Given the description of an element on the screen output the (x, y) to click on. 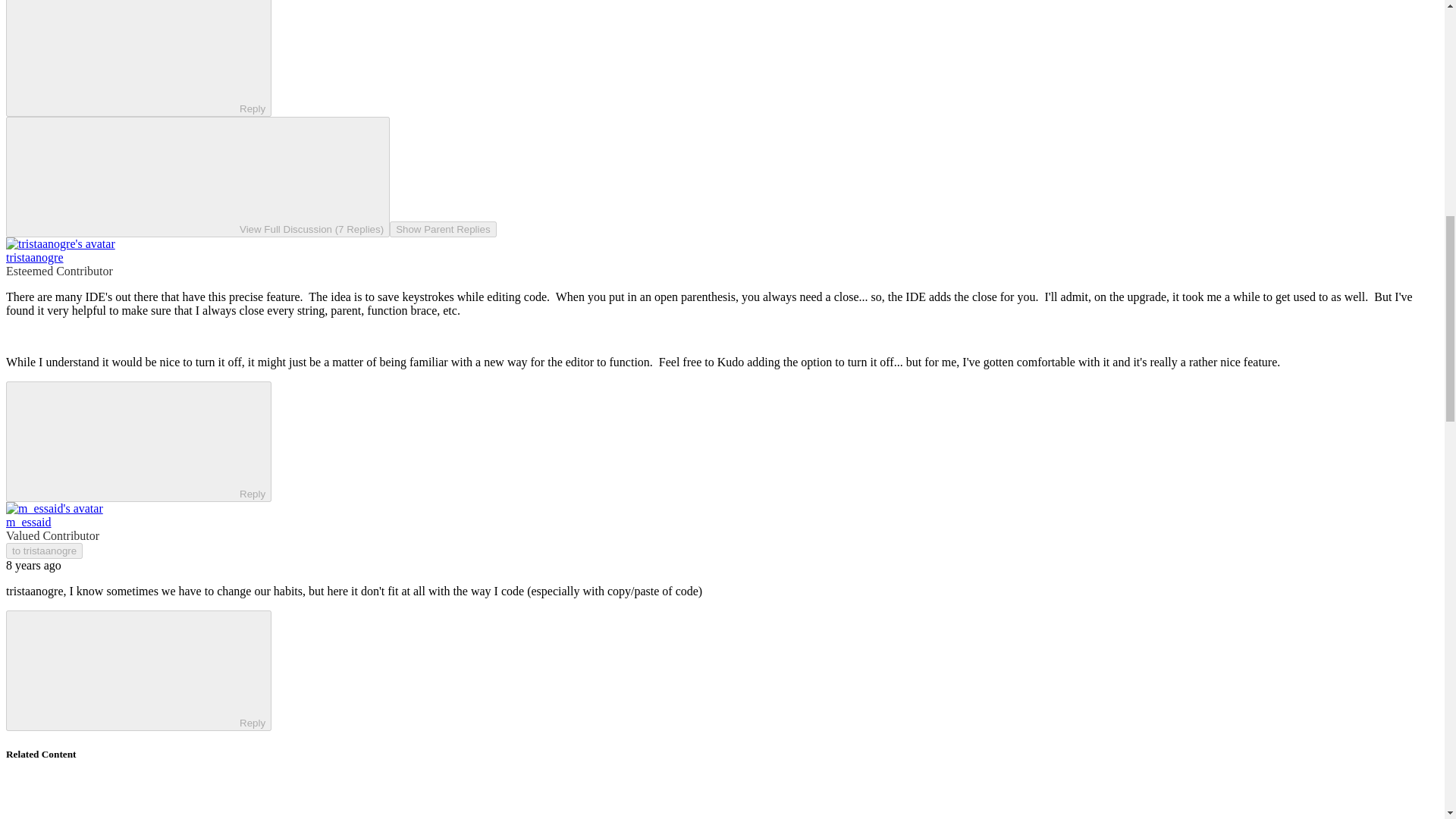
ReplyReply (137, 441)
tristaanogre (34, 590)
tristaanogre (34, 256)
ReplyReply (137, 670)
Reply (125, 440)
Show Parent Replies (443, 229)
to tristaanogre (43, 550)
Reply (125, 56)
June 9, 2017 at 2:51 PM (33, 564)
Reply (125, 669)
ReplyReply (137, 58)
